Given the description of an element on the screen output the (x, y) to click on. 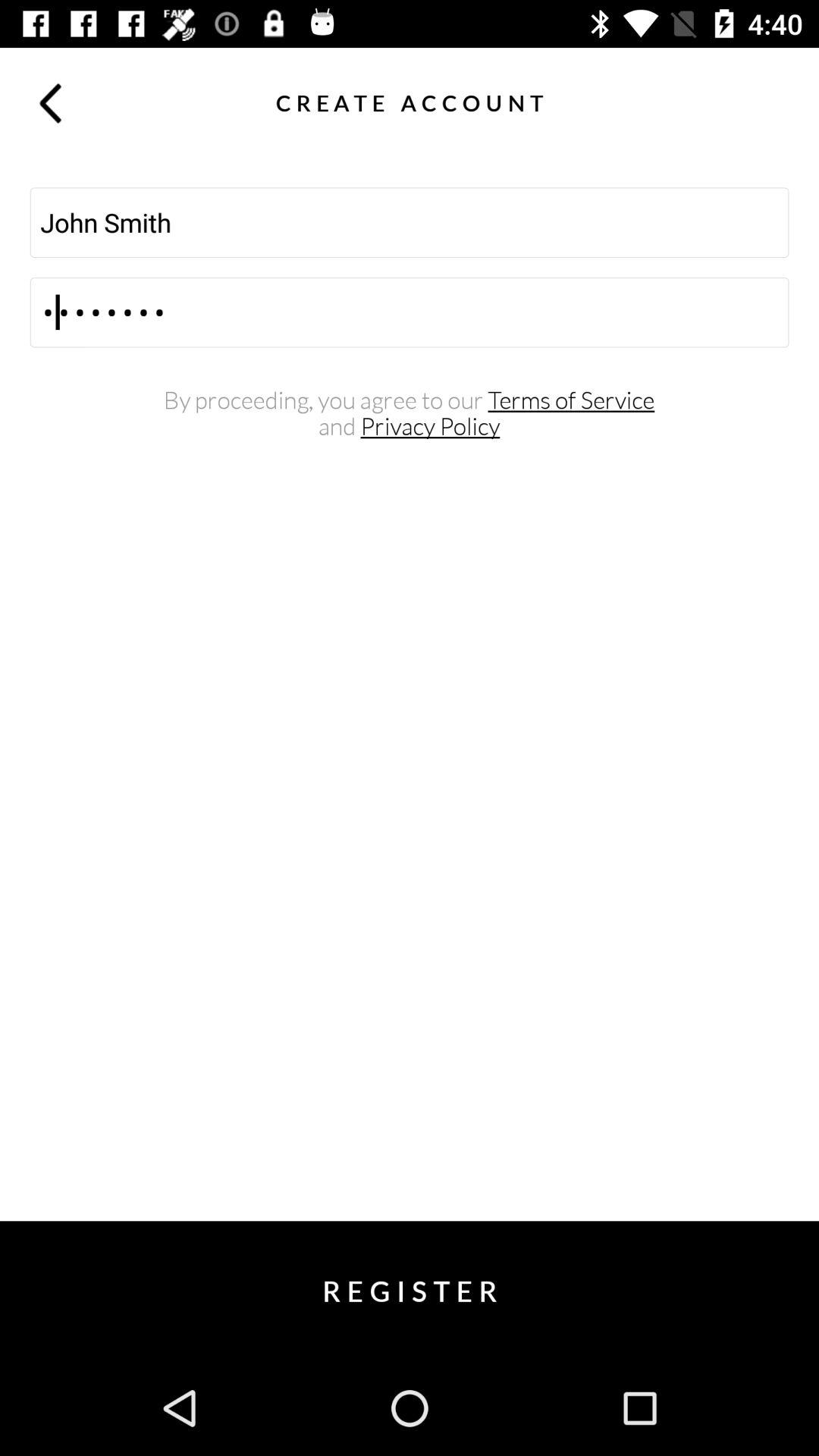
launch item above the john smith (49, 102)
